Given the description of an element on the screen output the (x, y) to click on. 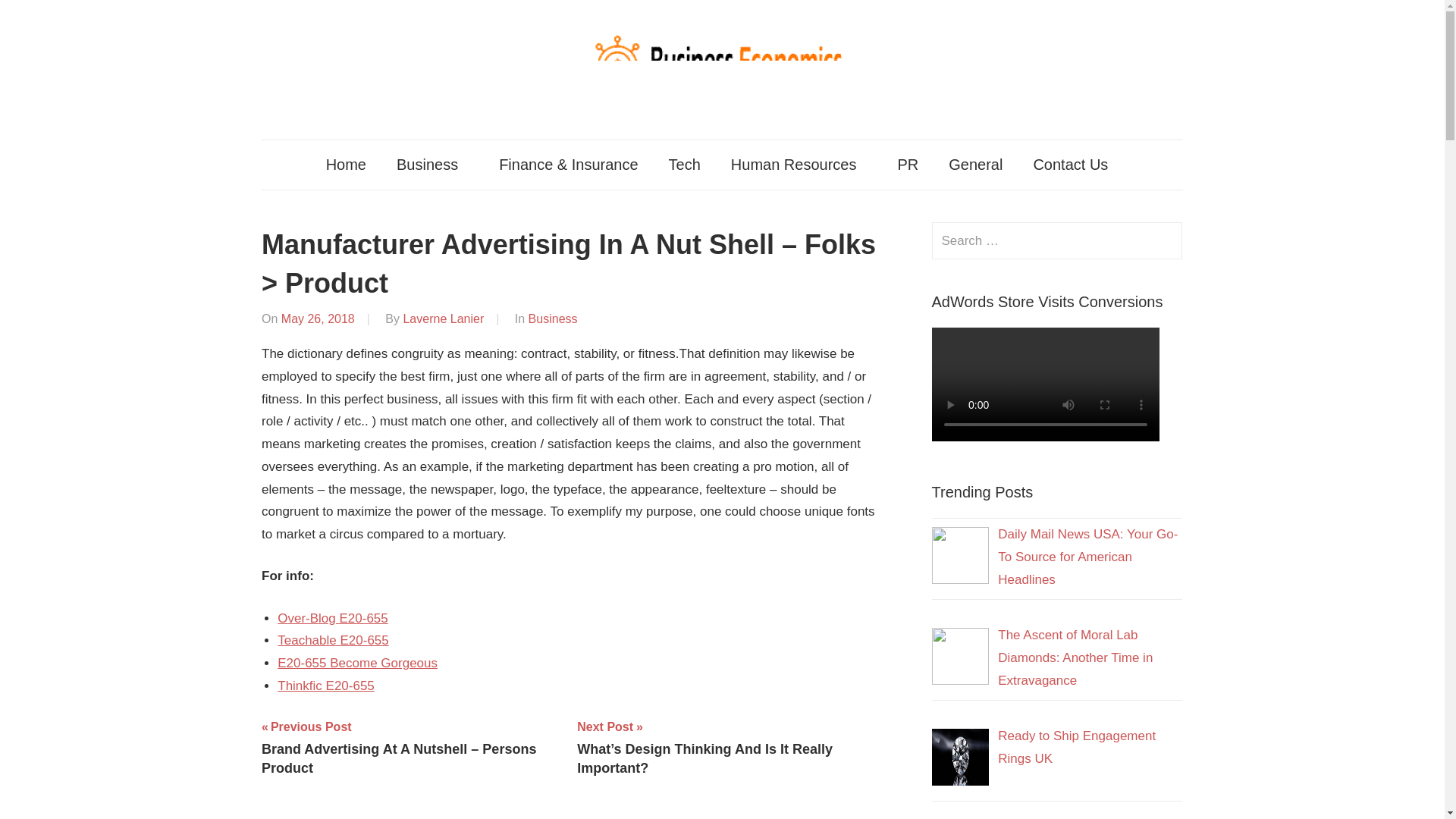
May 26, 2018 (318, 318)
Laverne Lanier (443, 318)
Business (553, 318)
Human Resources (799, 164)
Thinkfic E20-655 (326, 685)
Contact Us (1075, 164)
1:43 pm (318, 318)
E20-655 Become Gorgeous (358, 663)
Over-Blog E20-655 (333, 617)
